Given the description of an element on the screen output the (x, y) to click on. 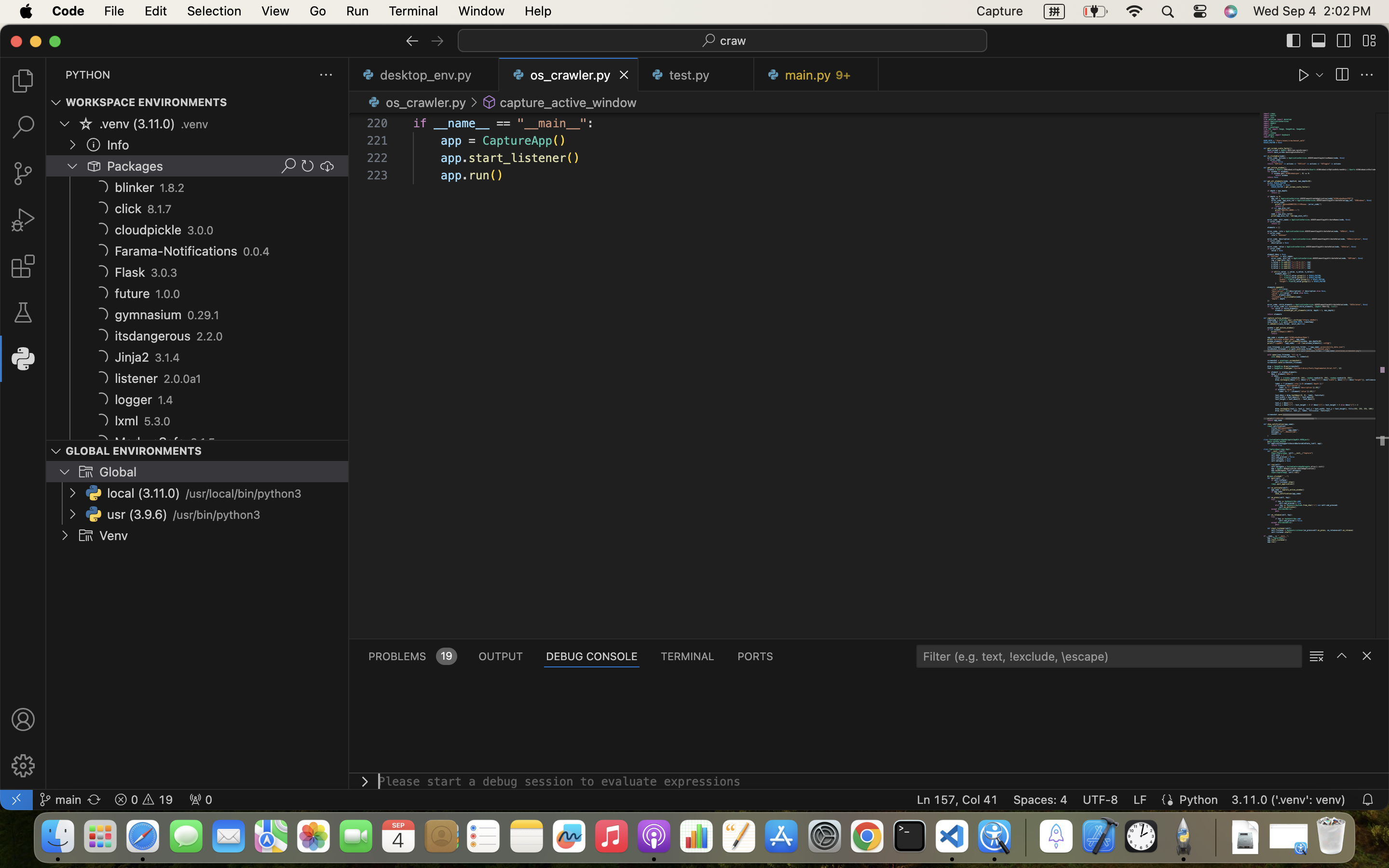
 Element type: AXCheckBox (1344, 40)
usr (3.9.6) Element type: AXStaticText (137, 514)
WORKSPACE ENVIRONMENTS Element type: AXStaticText (146, 102)
 0 Element type: AXButton (200, 799)
PYTHON Element type: AXStaticText (87, 74)
